Given the description of an element on the screen output the (x, y) to click on. 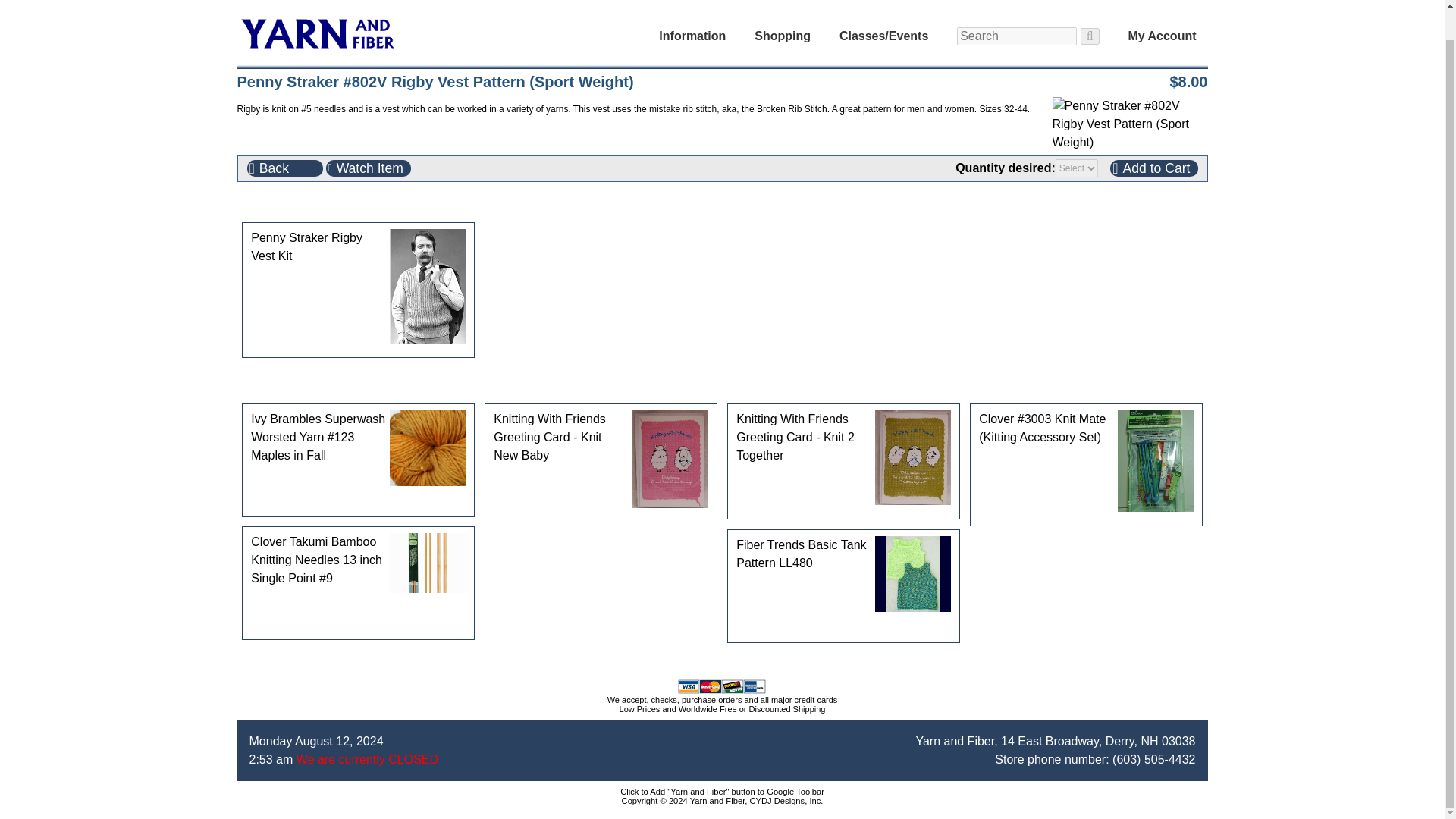
Penny Straker Rigby Vest Kit (357, 247)
Knitting With Friends Greeting Card - Knit New Baby (600, 437)
 visa, mastercard, discover, amex  (722, 685)
 Fiber Trends Basic Tank Pattern  LL480  (912, 573)
